Given the description of an element on the screen output the (x, y) to click on. 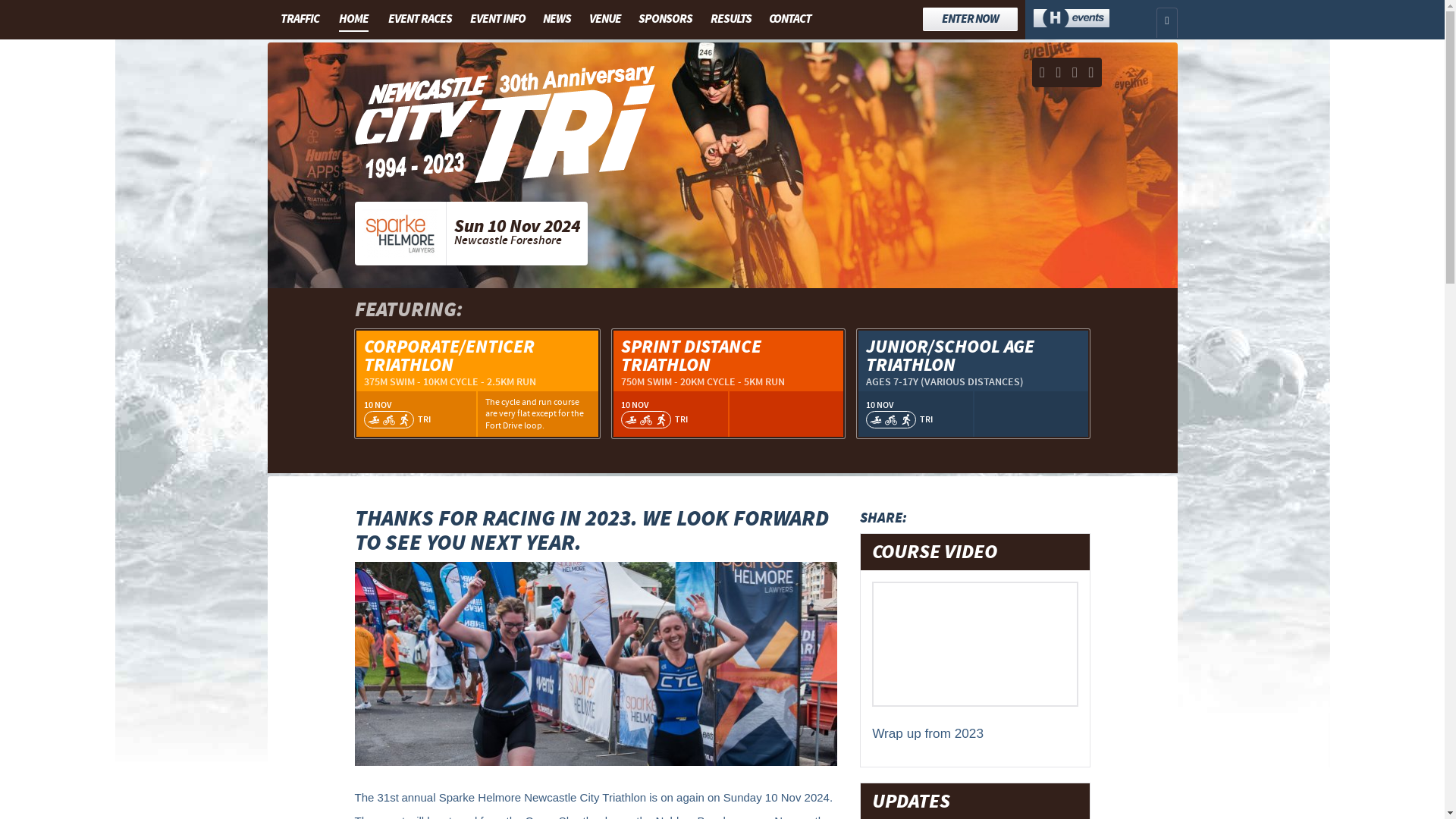
EVENT RACES Element type: text (419, 18)
NEWS Element type: text (556, 18)
TRAFFIC Element type: text (298, 18)
CONTACT Element type: text (789, 18)
ENTER NOW Element type: text (969, 19)
VENUE Element type: text (604, 18)
SPONSORS Element type: text (665, 18)
HOME Element type: text (353, 19)
EVENT INFO Element type: text (497, 18)
RESULTS Element type: text (730, 18)
